Given the description of an element on the screen output the (x, y) to click on. 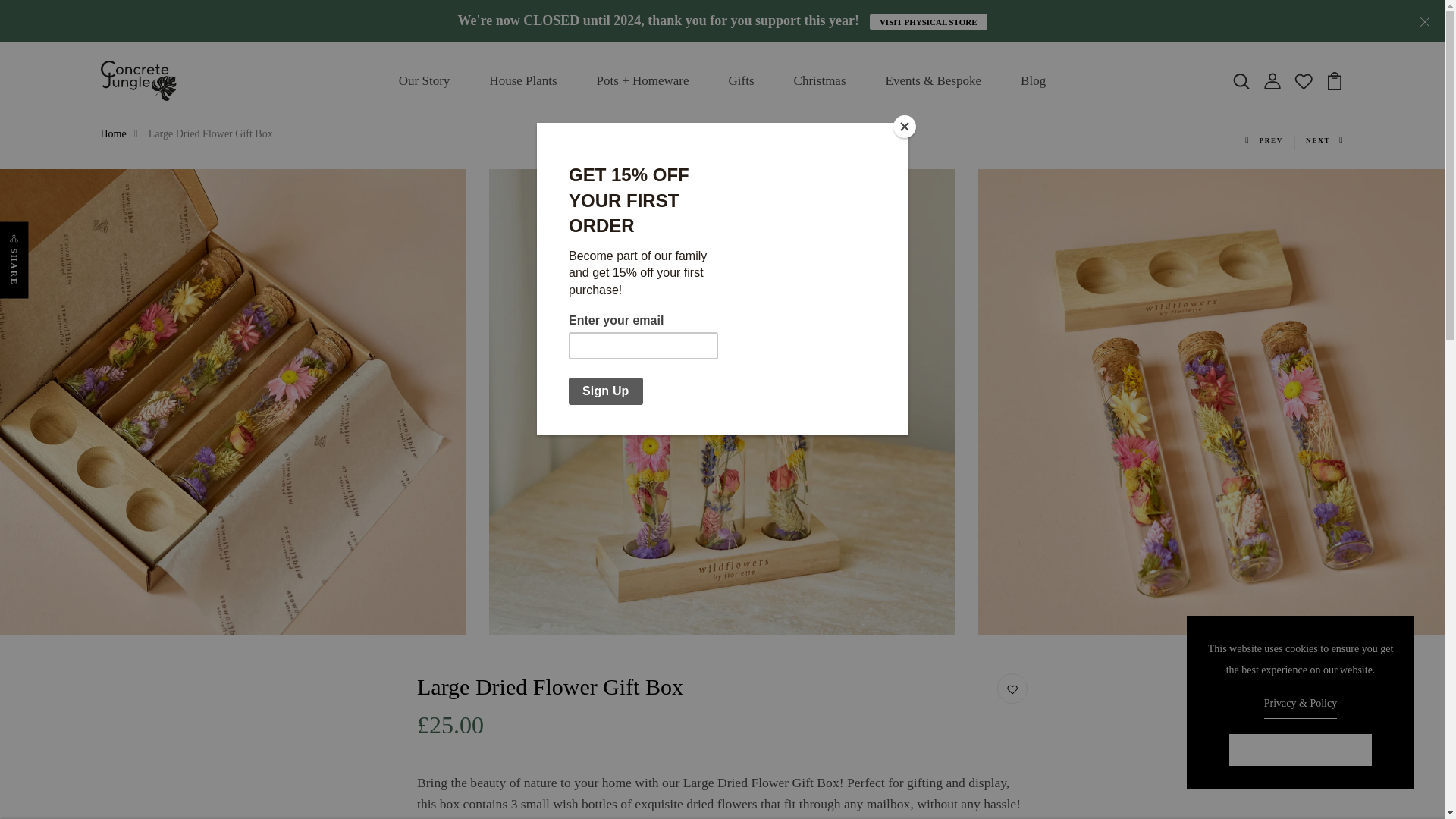
House Plants (522, 81)
Gifts (741, 81)
Our Story (425, 81)
Our Story (425, 81)
House Plants (522, 81)
Christmas (819, 81)
VISIT PHYSICAL STORE (928, 21)
